Given the description of an element on the screen output the (x, y) to click on. 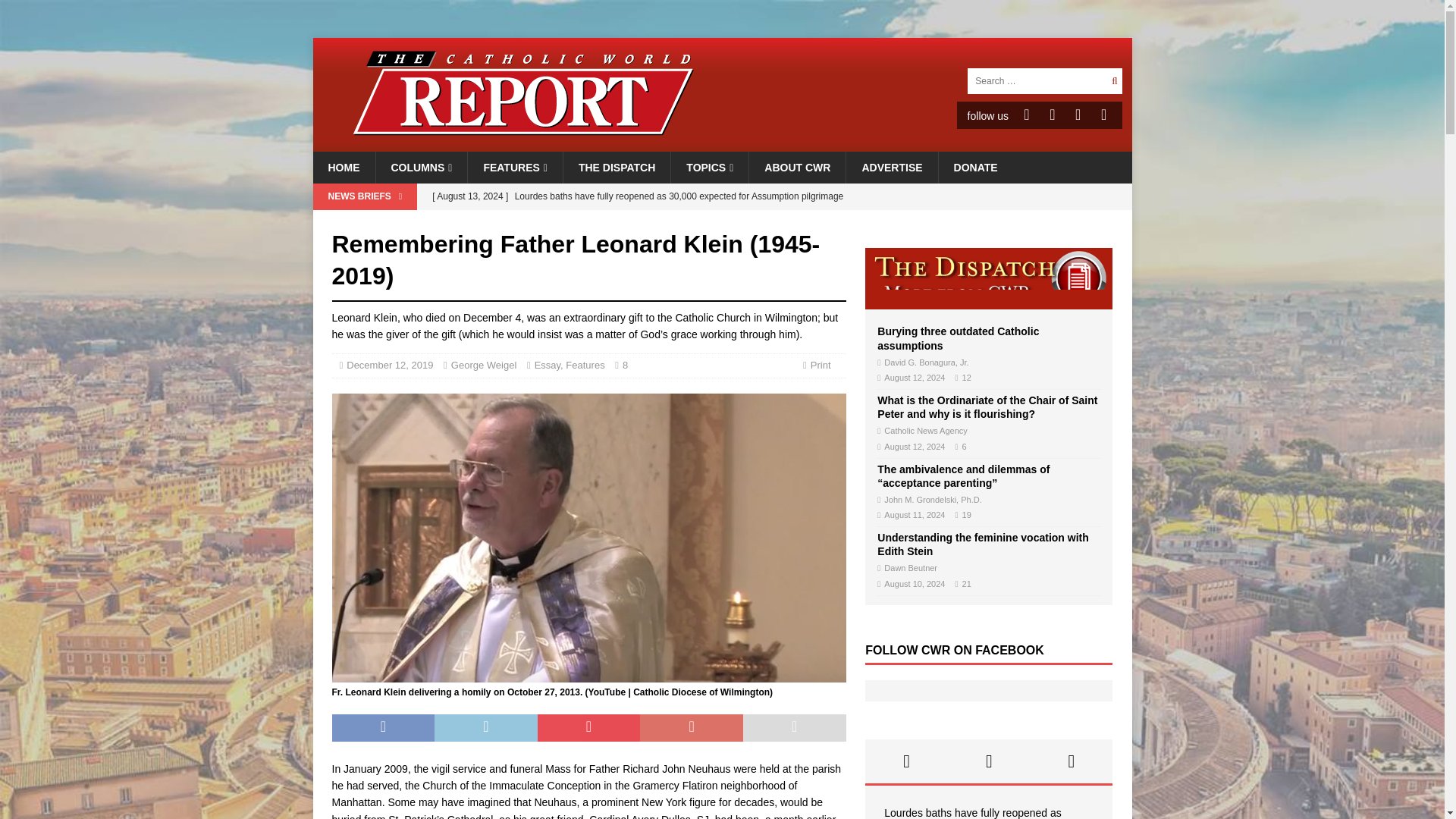
ABOUT CWR (796, 167)
THE DISPATCH (615, 167)
TOPICS (708, 167)
HOME (343, 167)
ADVERTISE (891, 167)
FEATURES (514, 167)
NEWS BRIEFS (364, 195)
Search for: (1035, 80)
